Given the description of an element on the screen output the (x, y) to click on. 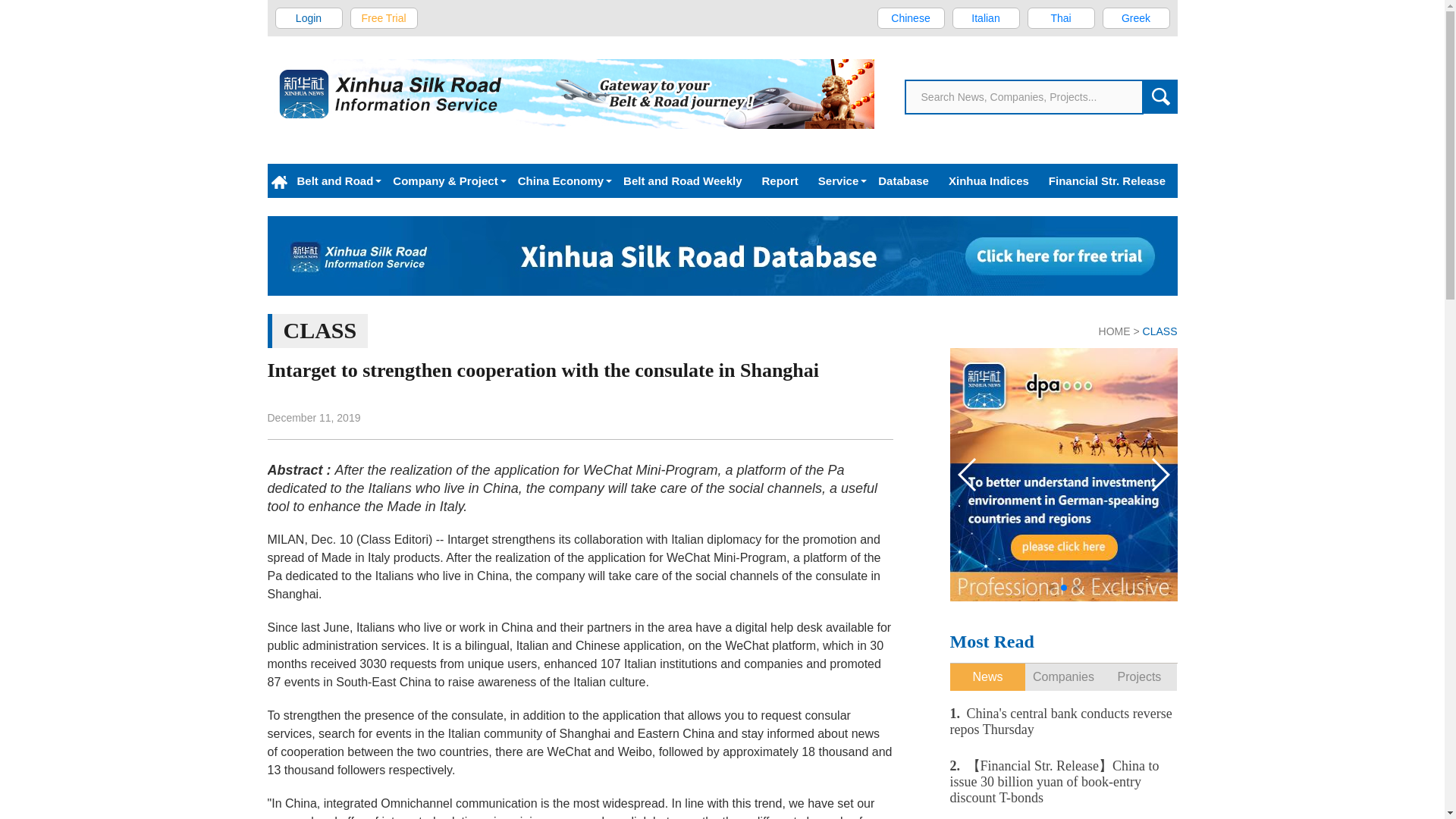
Chinese (909, 17)
one belt one road Free Trial (383, 17)
Italian (986, 17)
Xinhua Silk Road Database (721, 255)
China Economy (560, 180)
Thai (1060, 17)
one belt one road login (309, 17)
Report (780, 180)
Service (837, 180)
Belt and Road Weekly (681, 180)
Greek (1136, 17)
China's central bank conducts reverse repos Thursday (1062, 721)
Belt and Road (334, 180)
Free Trial (383, 17)
Login (309, 17)
